Given the description of an element on the screen output the (x, y) to click on. 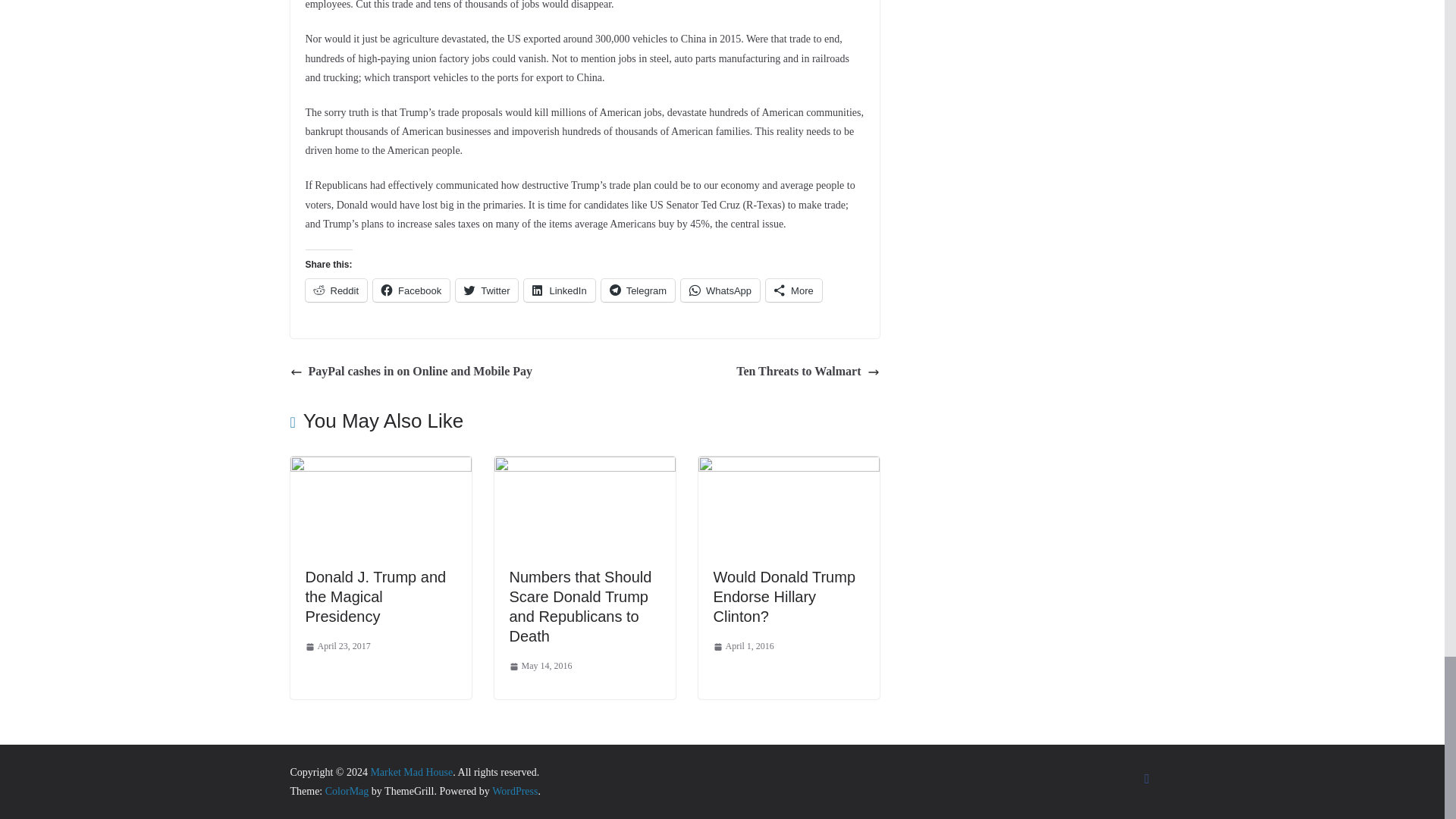
Donald J. Trump and the Magical Presidency (379, 466)
Click to share on Twitter (486, 290)
8:23 pm (336, 646)
Click to share on Telegram (638, 290)
Reddit (335, 290)
Click to share on WhatsApp (720, 290)
Click to share on Reddit (335, 290)
More (793, 290)
Telegram (638, 290)
Donald J. Trump and the Magical Presidency (374, 596)
Click to share on LinkedIn (559, 290)
LinkedIn (559, 290)
Click to share on Facebook (410, 290)
Facebook (410, 290)
WhatsApp (720, 290)
